Given the description of an element on the screen output the (x, y) to click on. 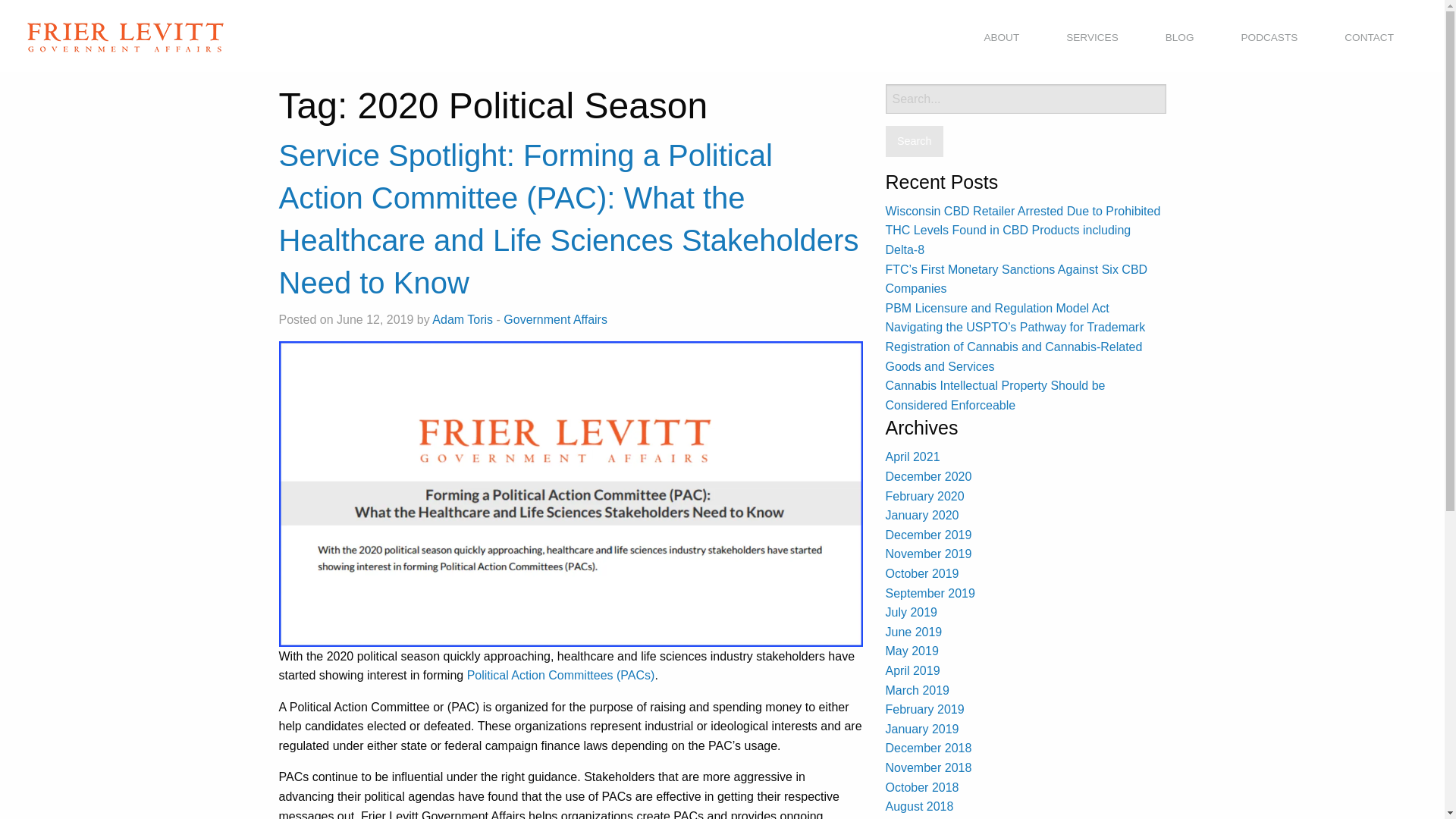
Adam Toris (462, 318)
ABOUT (1000, 37)
Search (914, 141)
PODCASTS (1269, 37)
Government Affairs (555, 318)
January 2020 (922, 514)
BLOG (1180, 37)
December 2020 (928, 476)
April 2021 (912, 456)
December 2019 (928, 534)
Search for: (1025, 98)
CONTACT (1369, 37)
Posts by Adam Toris (462, 318)
